Given the description of an element on the screen output the (x, y) to click on. 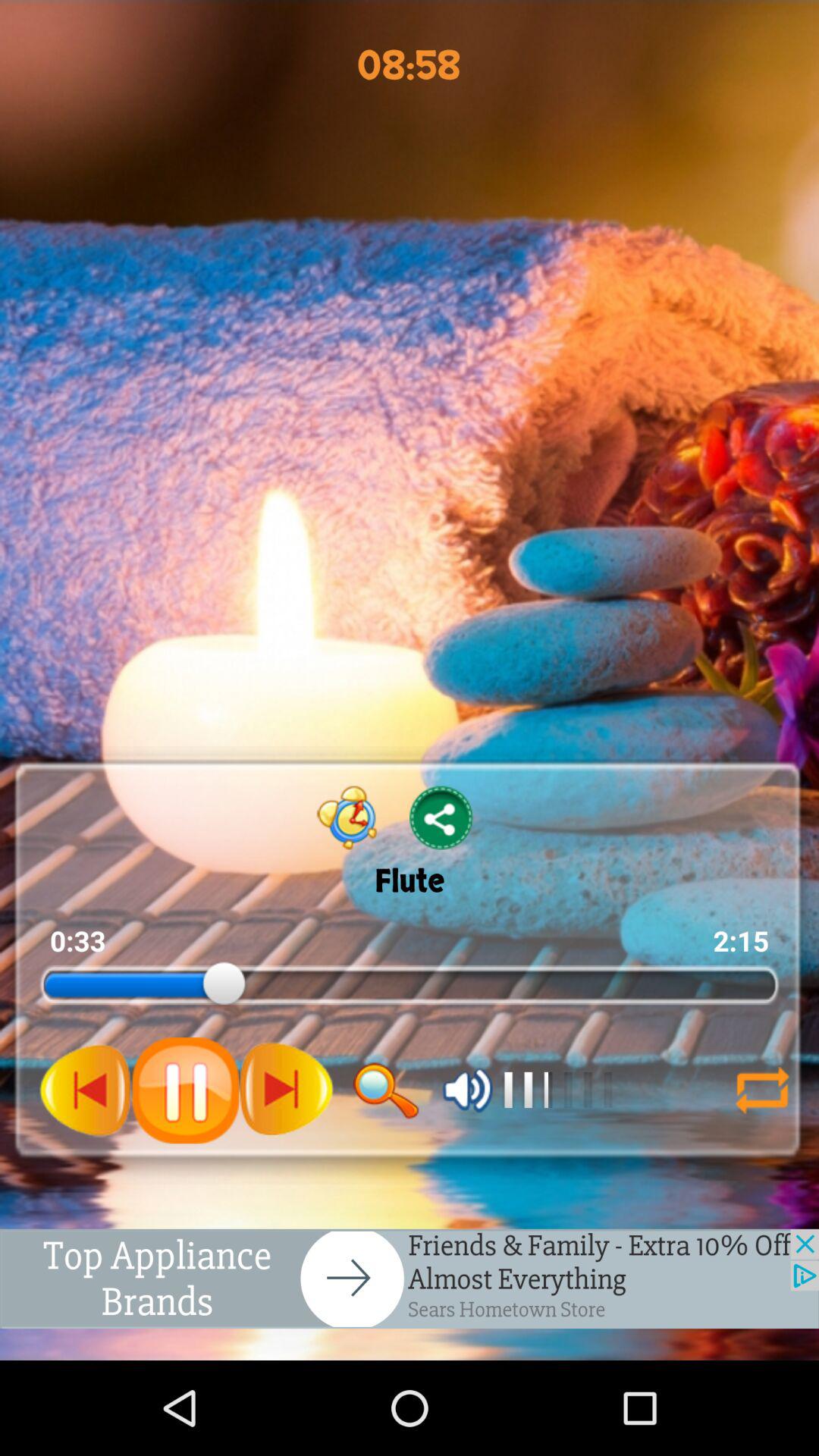
set timer (347, 817)
